Given the description of an element on the screen output the (x, y) to click on. 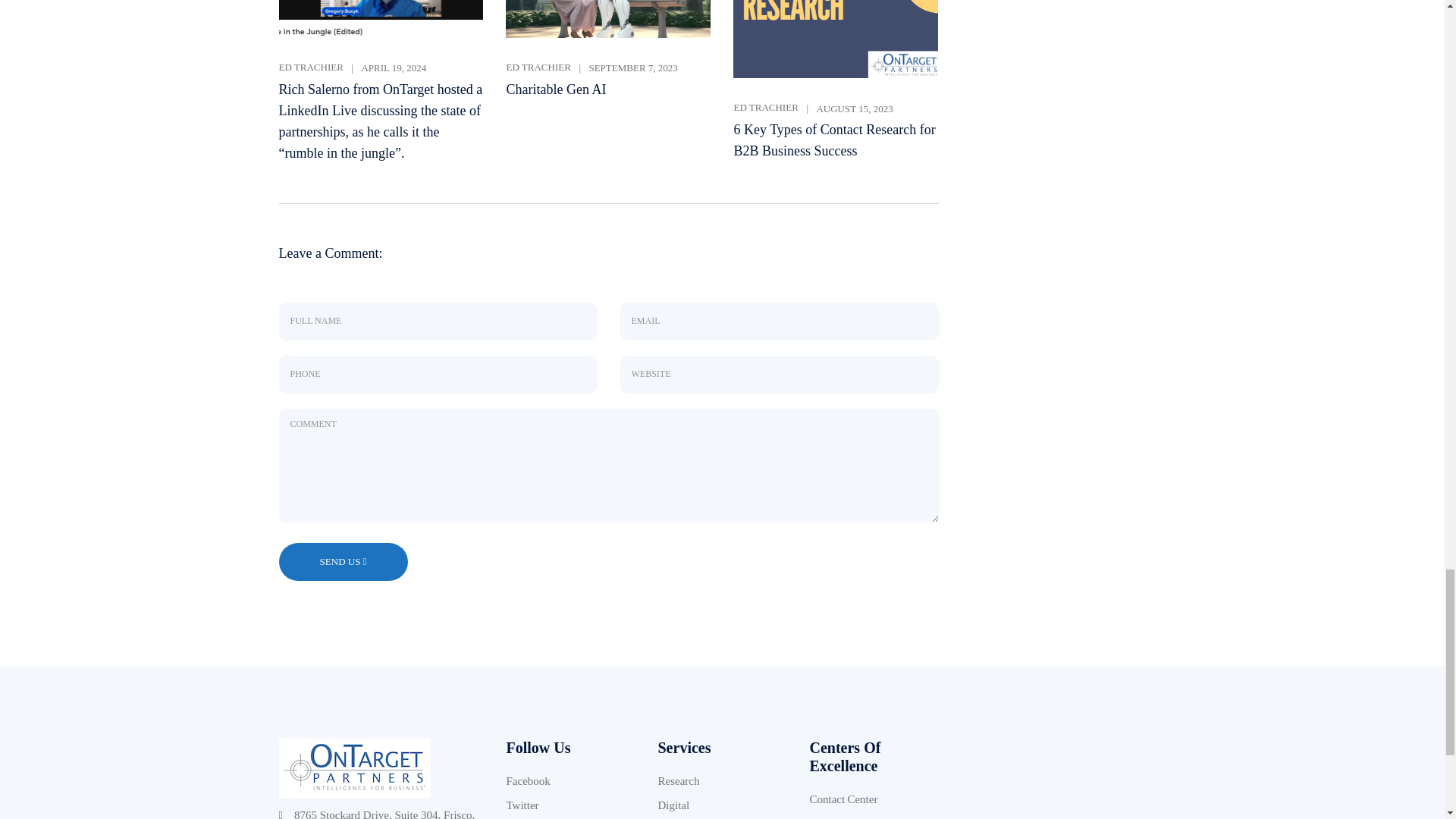
Rumble-in-the-Jungle-04-22-2024 (381, 18)
SEND US (340, 561)
Six-Key-Types-of-Contact-Research (835, 38)
GenAI Robot Giving Flowers (607, 18)
